Given the description of an element on the screen output the (x, y) to click on. 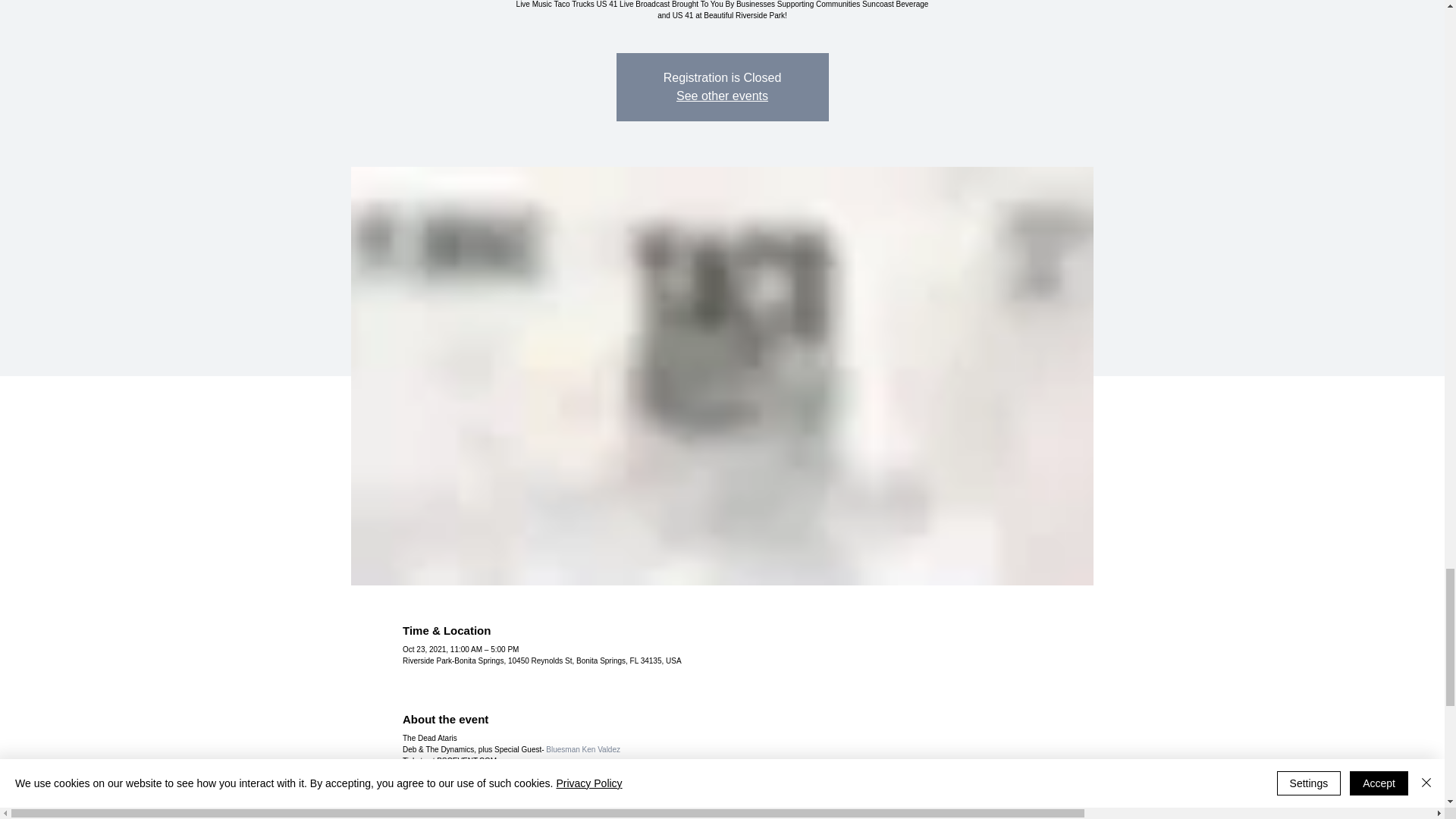
Bluesman Ken Valdez (583, 749)
Order Tickets Here: (435, 783)
See other events (722, 95)
